Given the description of an element on the screen output the (x, y) to click on. 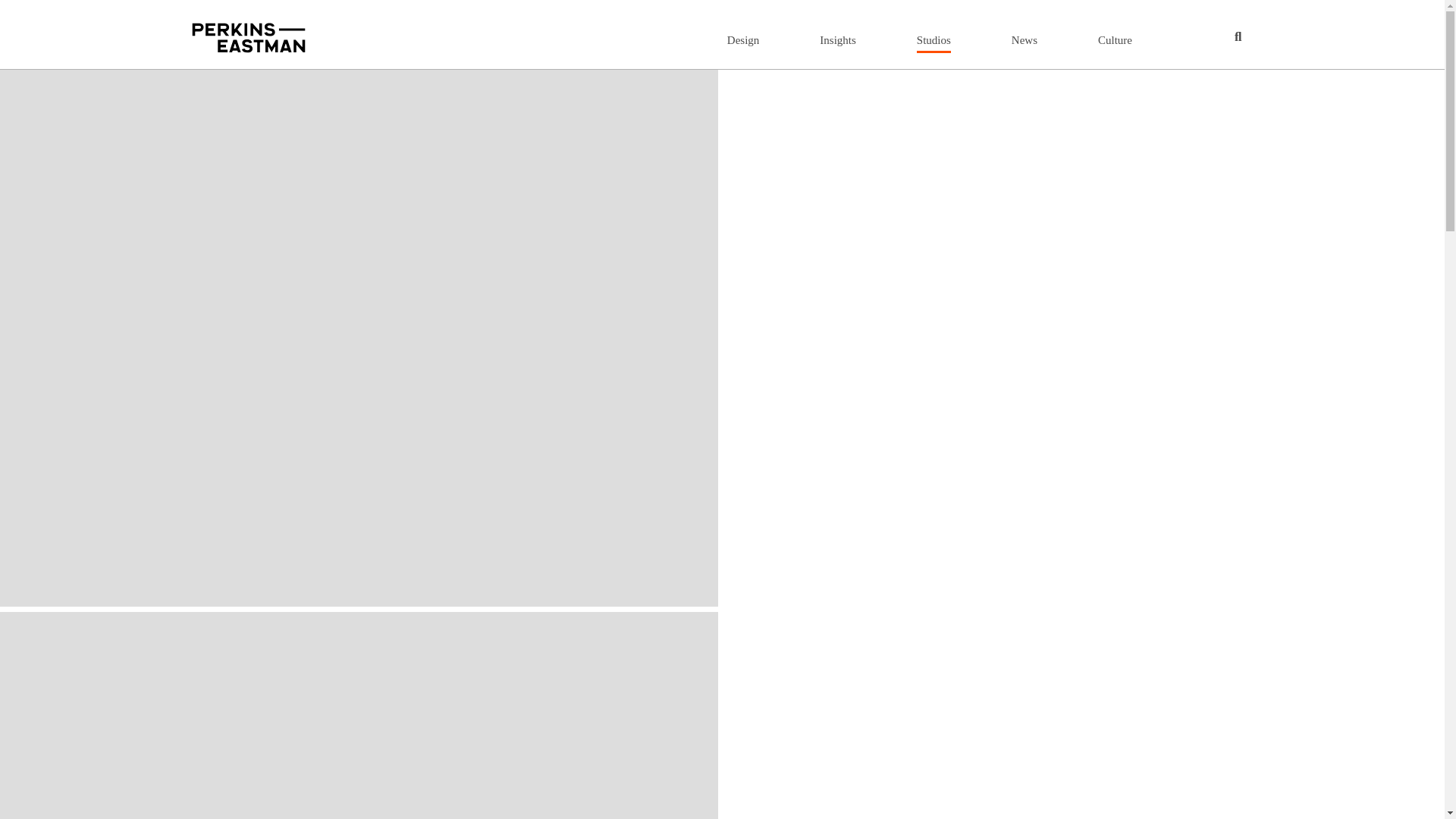
Design (743, 40)
Insights (837, 40)
